Given the description of an element on the screen output the (x, y) to click on. 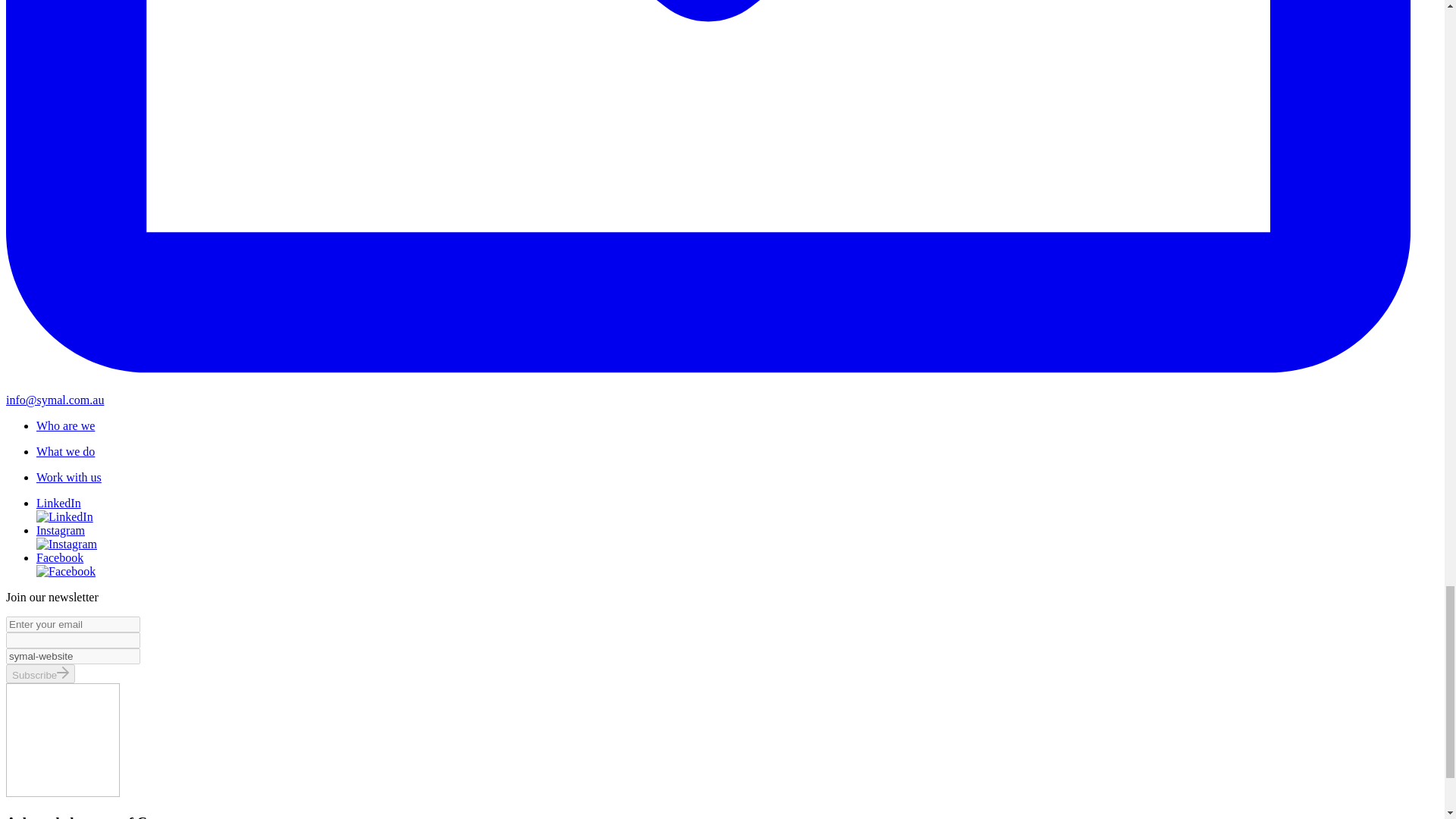
symal-website (72, 656)
